Given the description of an element on the screen output the (x, y) to click on. 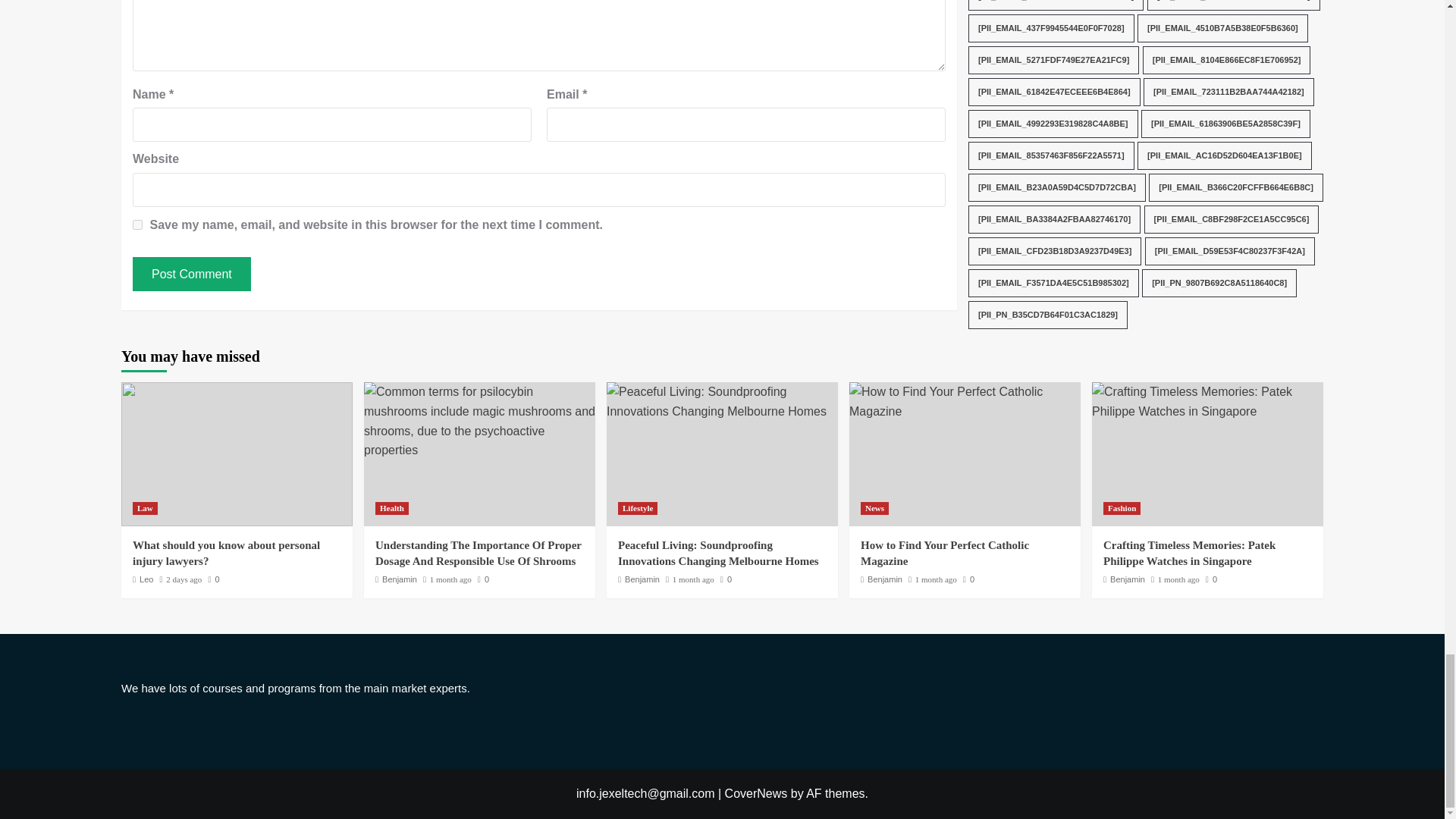
yes (137, 225)
Post Comment (191, 274)
